Given the description of an element on the screen output the (x, y) to click on. 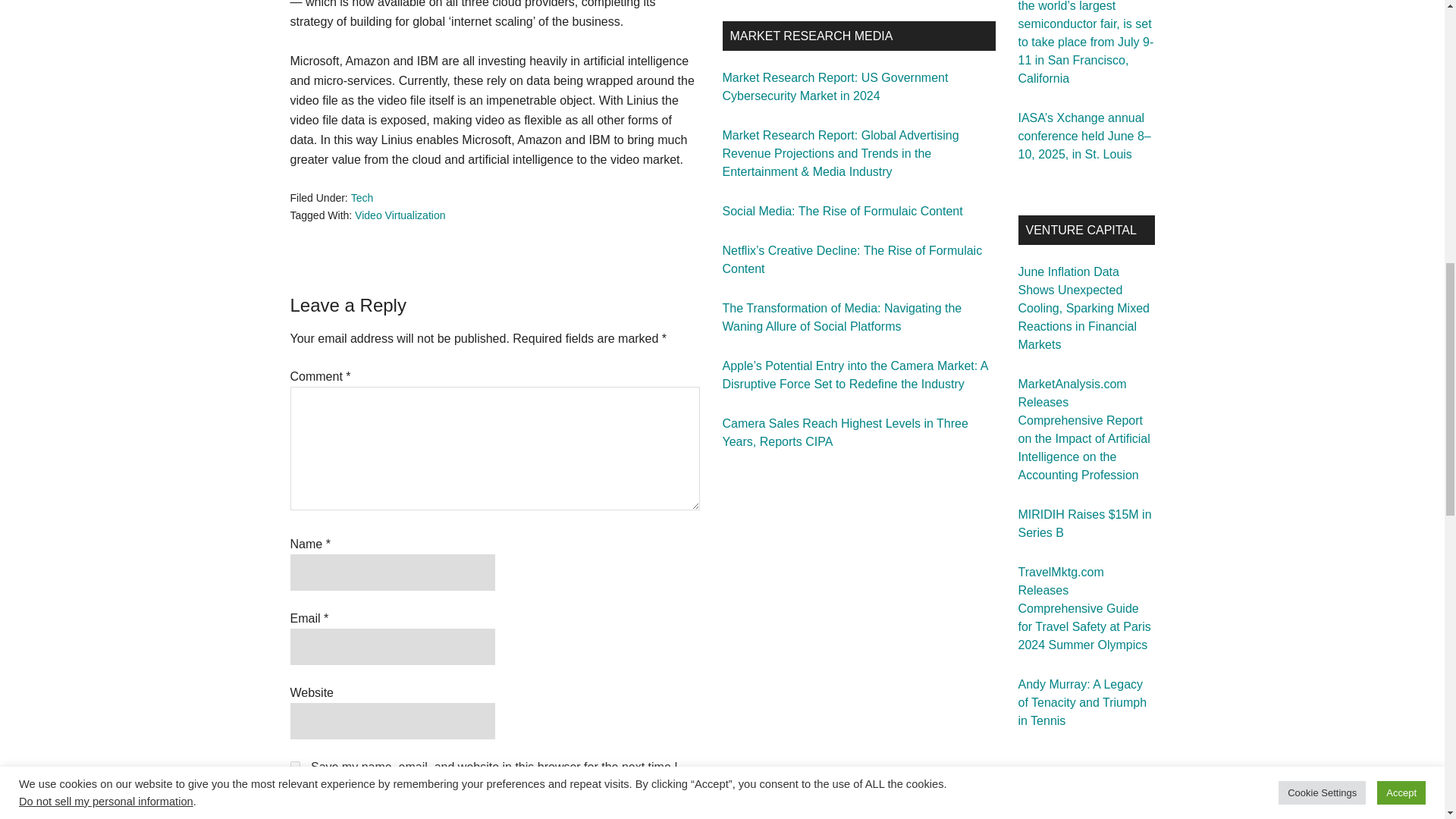
Post Comment (350, 816)
Social Media: The Rise of Formulaic Content (842, 210)
Tech (362, 197)
yes (294, 766)
Post Comment (350, 816)
Social Media: The Rise of Formulaic Content (842, 210)
Video Virtualization (400, 215)
